Given the description of an element on the screen output the (x, y) to click on. 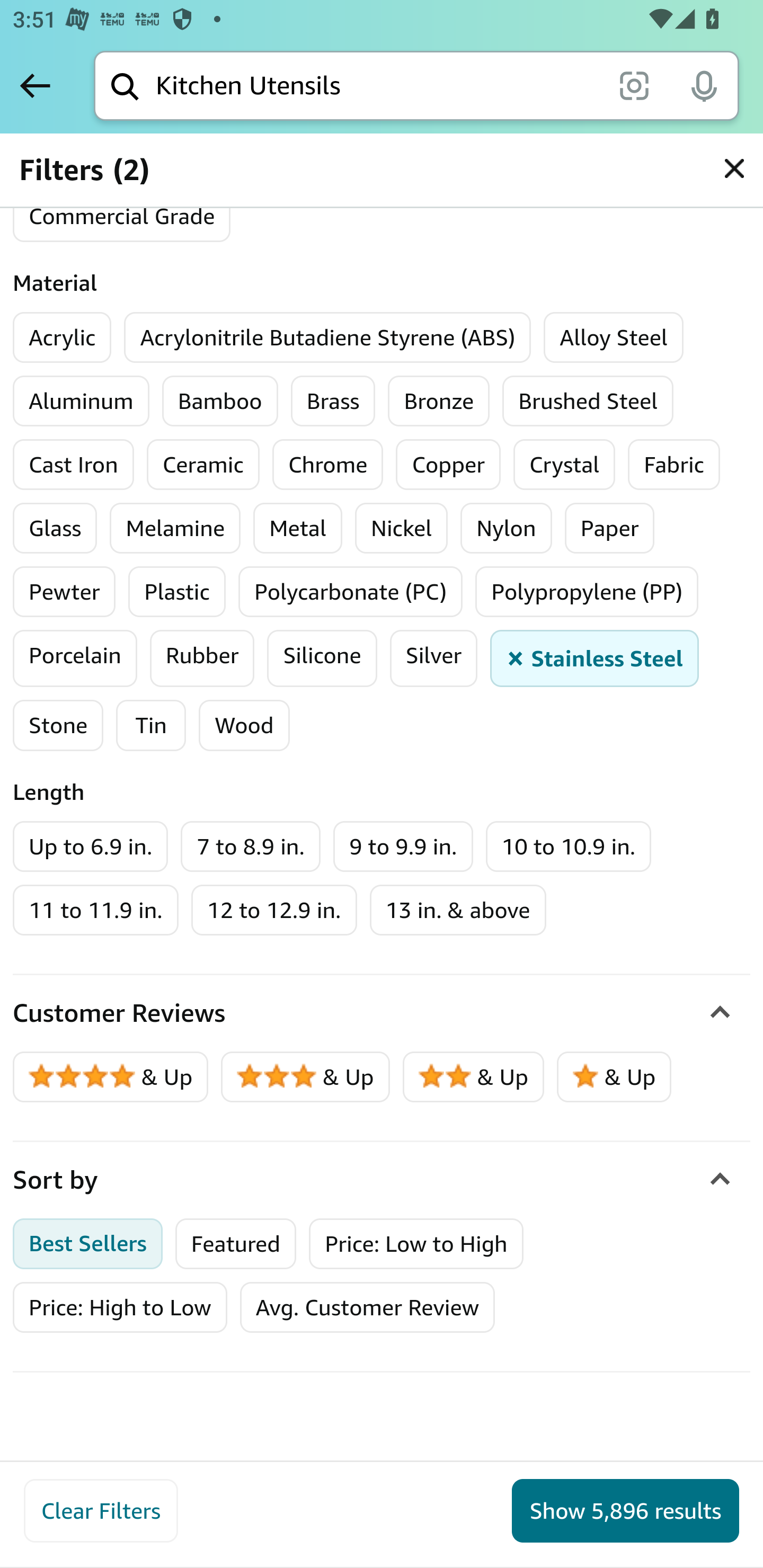
Back (35, 85)
scan it (633, 85)
Commercial Grade (121, 217)
Acrylic (62, 337)
Acrylonitrile Butadiene Styrene (ABS) (327, 337)
Alloy Steel (613, 337)
Aluminum (80, 401)
Bamboo (219, 401)
Brass (332, 401)
Bronze (439, 401)
Brushed Steel (587, 401)
Cast Iron (73, 464)
Ceramic (203, 464)
Chrome (327, 464)
Copper (447, 464)
Crystal (563, 464)
Fabric (673, 464)
